Given the description of an element on the screen output the (x, y) to click on. 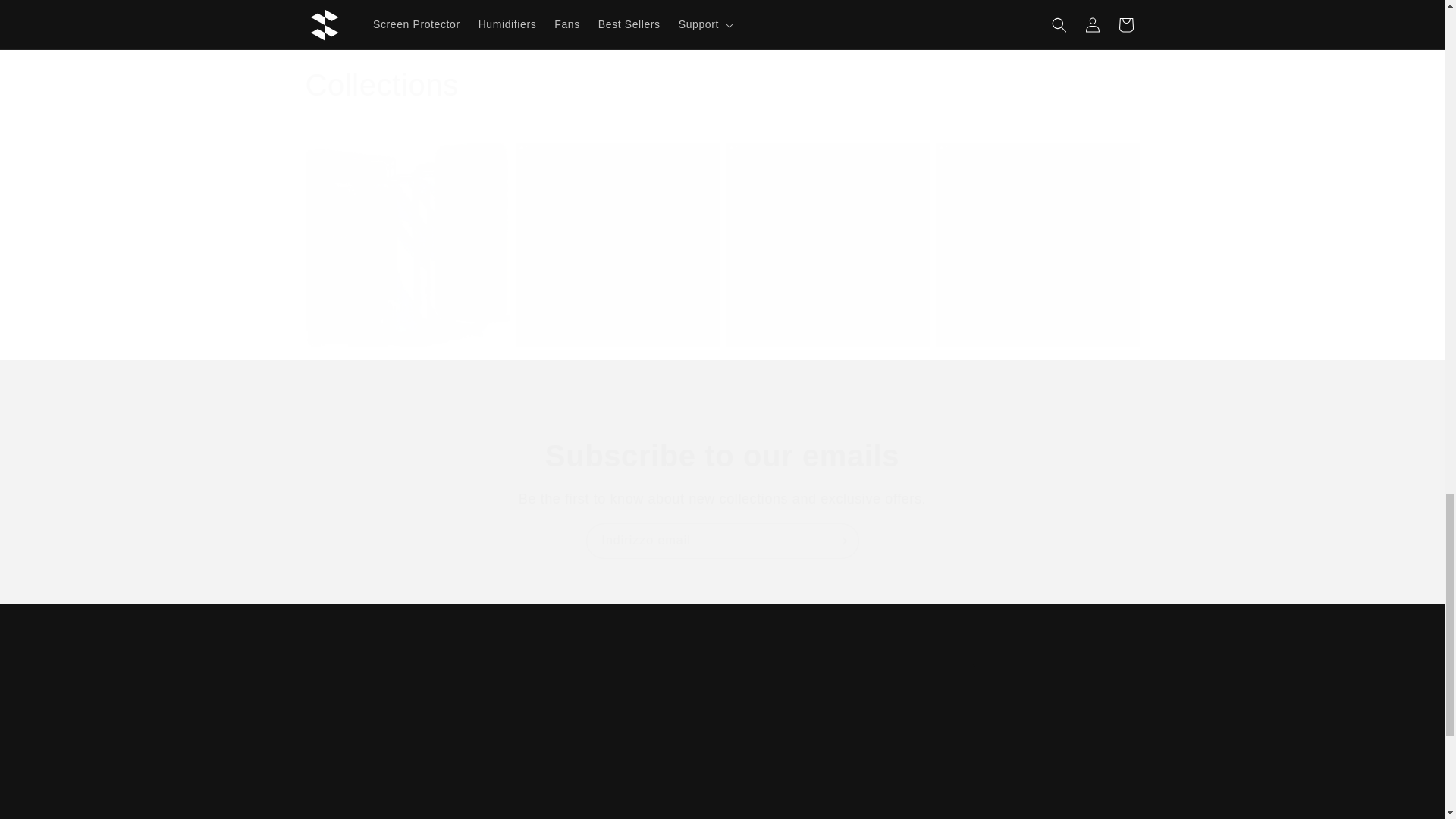
Collections (381, 84)
Pubblica commento (617, 740)
Subscribe to our emails (722, 540)
